Given the description of an element on the screen output the (x, y) to click on. 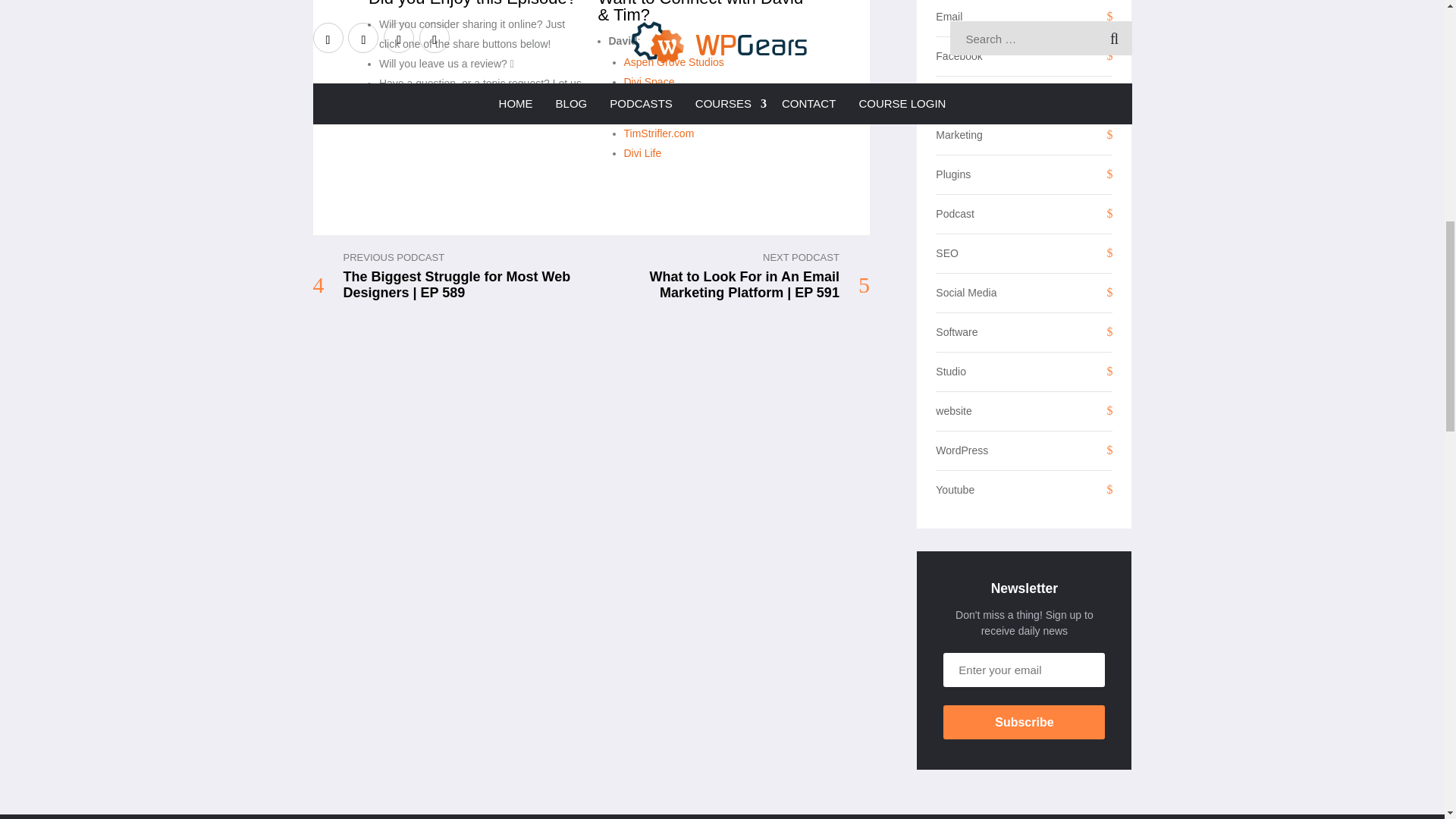
Aspen Grove Studios (673, 61)
Divi Life (642, 152)
Divi Space (648, 81)
TimStrifler.com (658, 133)
